Given the description of an element on the screen output the (x, y) to click on. 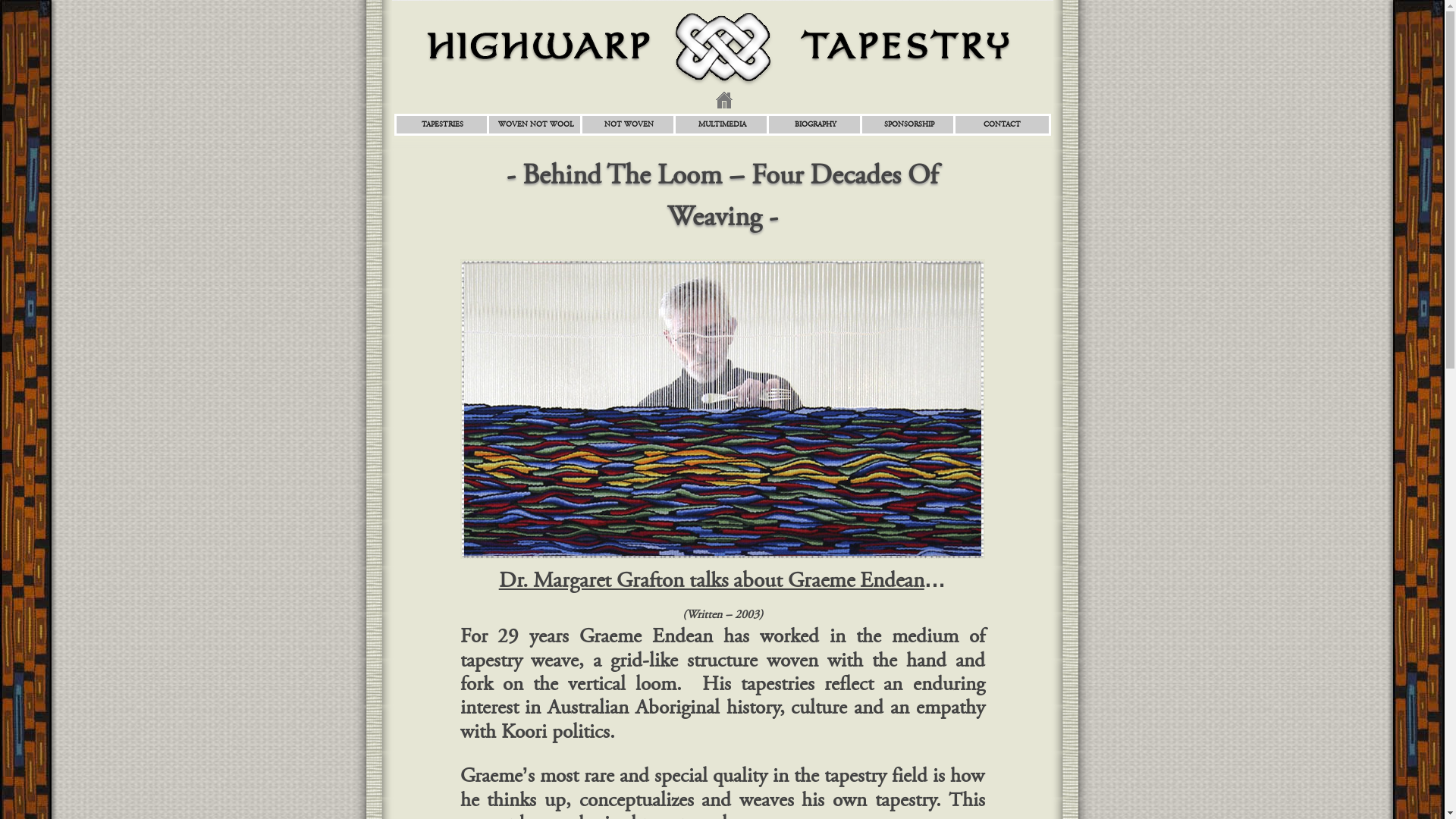
TAPESTRIES Element type: text (442, 124)
Skip to content Element type: text (757, 119)
SPONSORSHIP Element type: text (909, 124)
NOT WOVEN Element type: text (628, 124)
MULTIMEDIA Element type: text (722, 124)
BIOGRAPHY Element type: text (815, 124)
CONTACT Element type: text (1001, 124)
WOVEN NOT WOOL Element type: text (535, 124)
High Warp Tapestry - Home Page Element type: hover (721, 110)
